Given the description of an element on the screen output the (x, y) to click on. 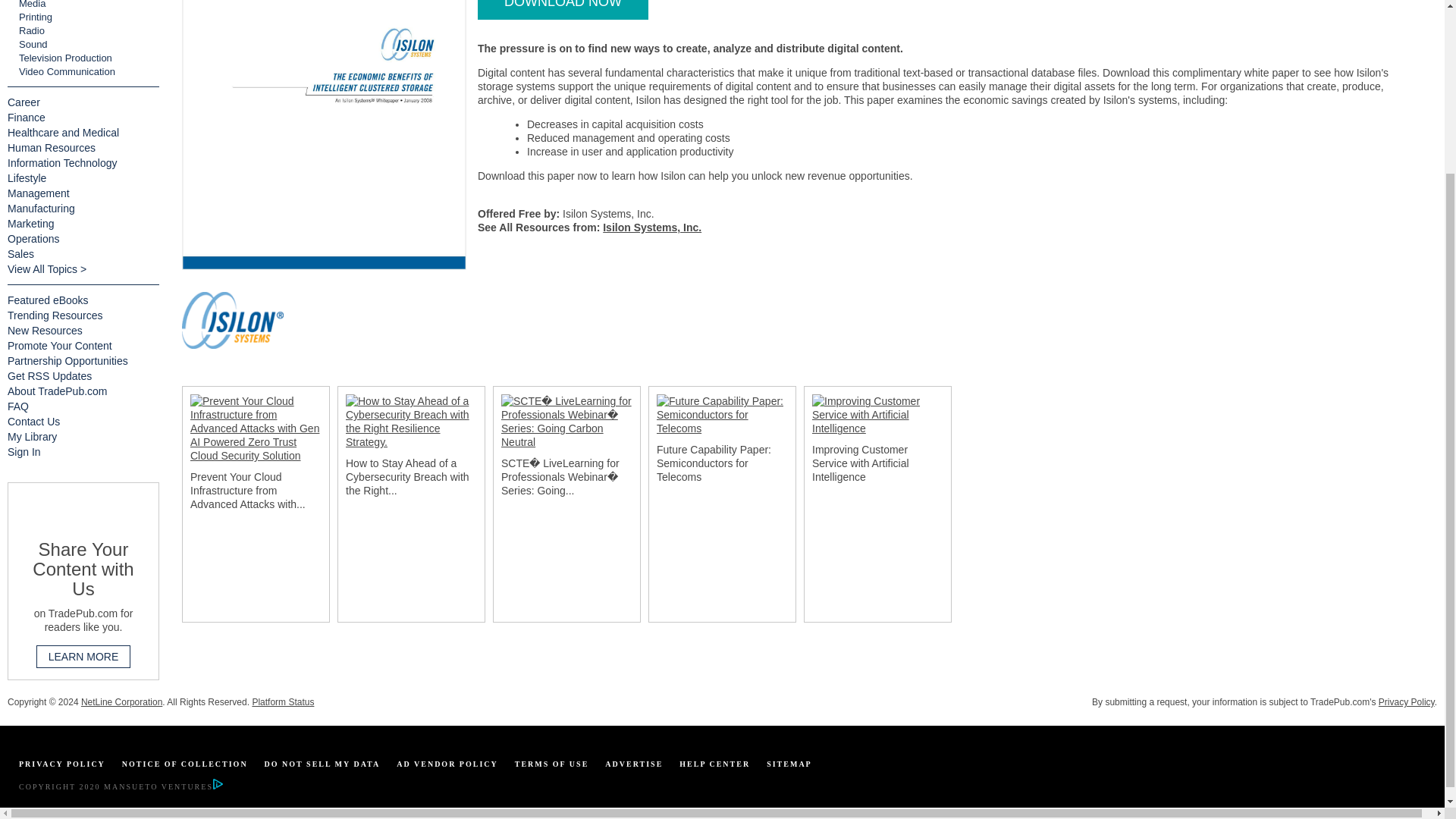
Get more information about Notice of collection on Inc.com (184, 764)
Get more information about do not sell my data on Inc.com (322, 764)
Get more information about terms of use on Inc.com (552, 764)
Get more information about help Center on Inc.com (714, 764)
Read more about your Ad Choices (217, 786)
Get more information about sitemap on Inc.com (789, 764)
Get more information about Advertise on Inc.com (633, 764)
Get more information about Privacy policy on Inc.com (61, 764)
Get more information about Ad vendor policy on Inc.com (446, 764)
